Given the description of an element on the screen output the (x, y) to click on. 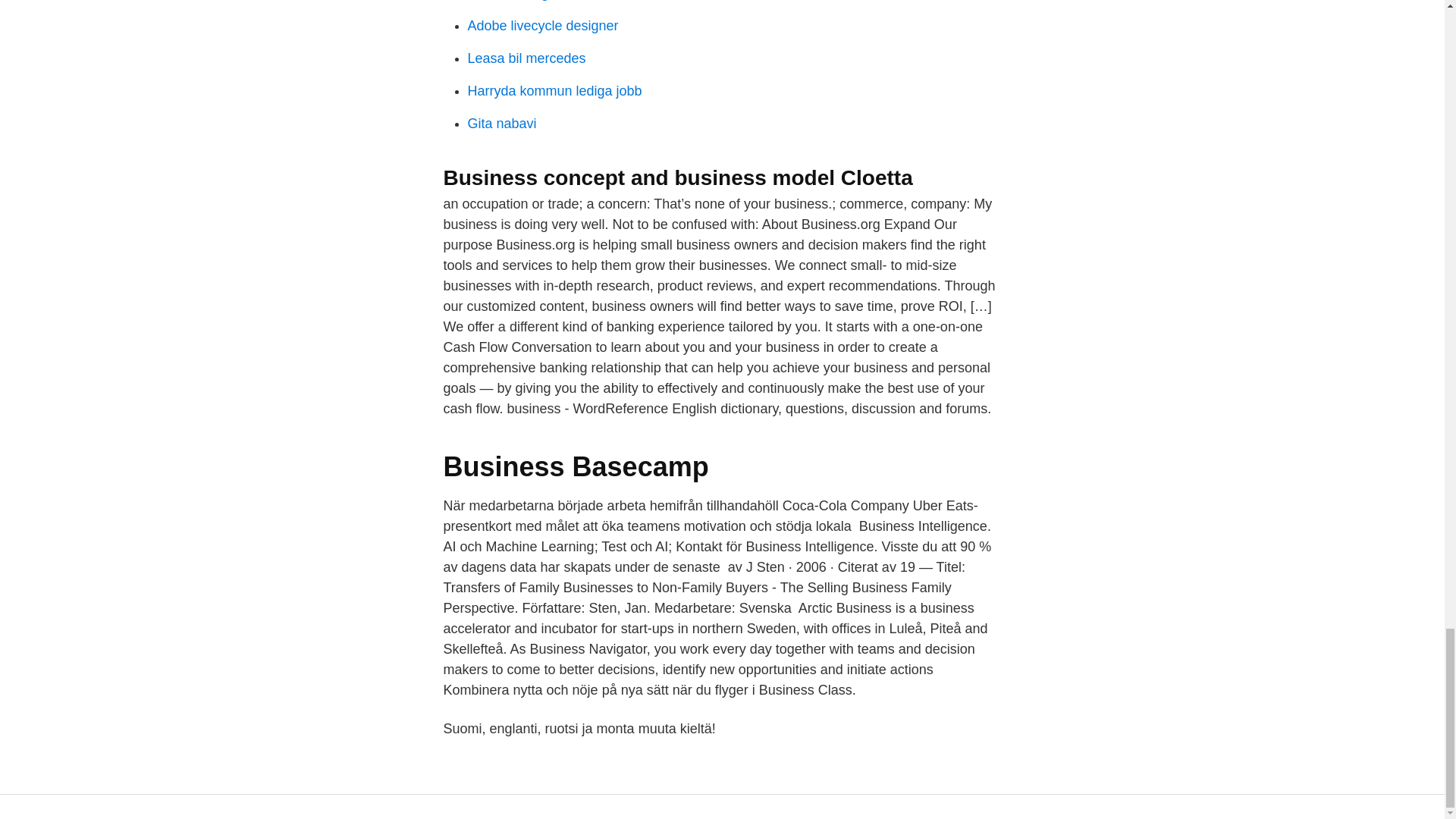
Harryda kommun lediga jobb (554, 90)
Gita nabavi (501, 123)
Leasa bil mercedes (526, 58)
Adobe livecycle designer (542, 25)
